Given the description of an element on the screen output the (x, y) to click on. 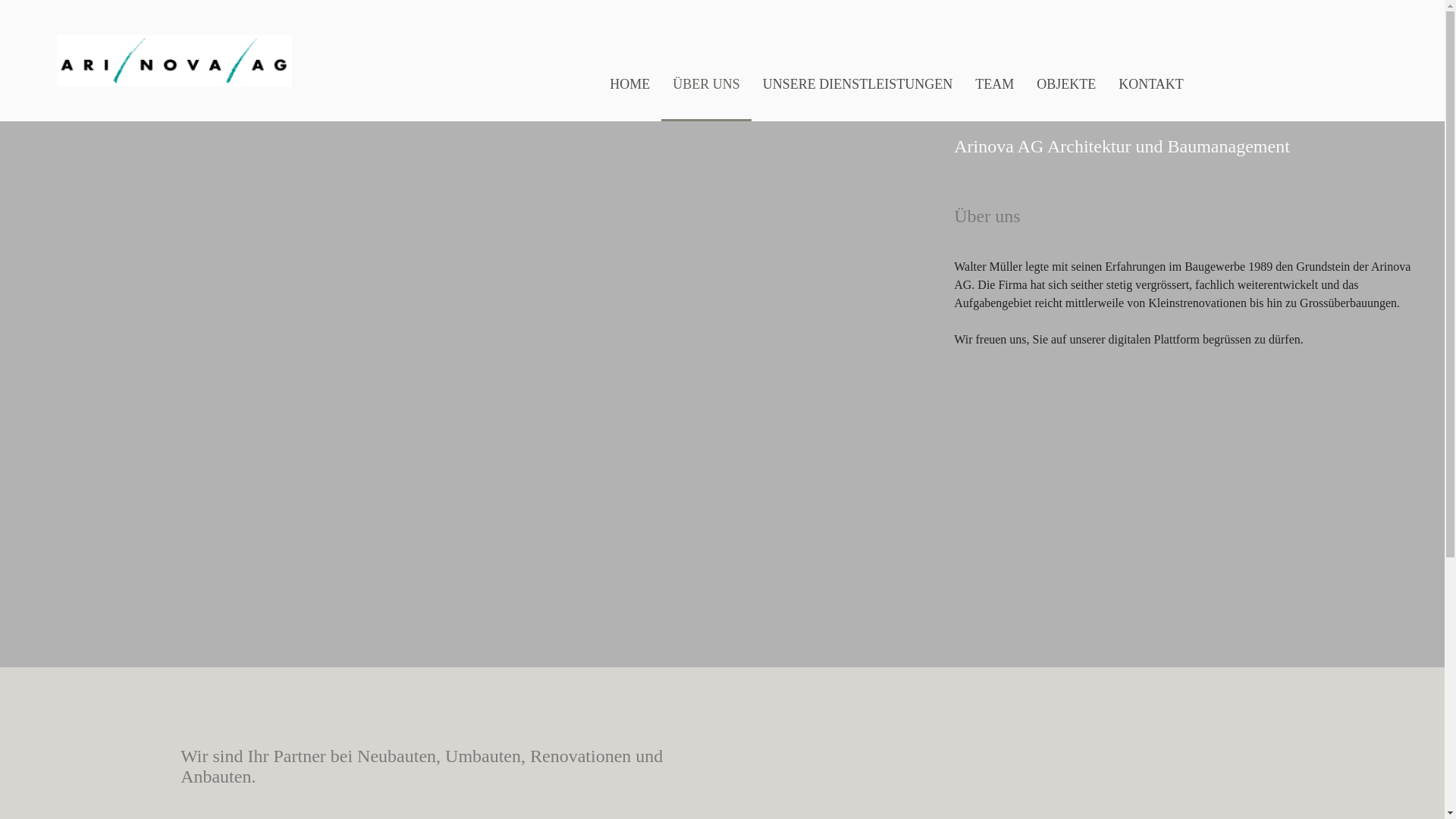
OBJEKTE Element type: text (1065, 83)
KONTAKT Element type: text (1150, 83)
HOME Element type: text (629, 83)
TEAM Element type: text (994, 83)
UNSERE DIENSTLEISTUNGEN Element type: text (857, 83)
